Given the description of an element on the screen output the (x, y) to click on. 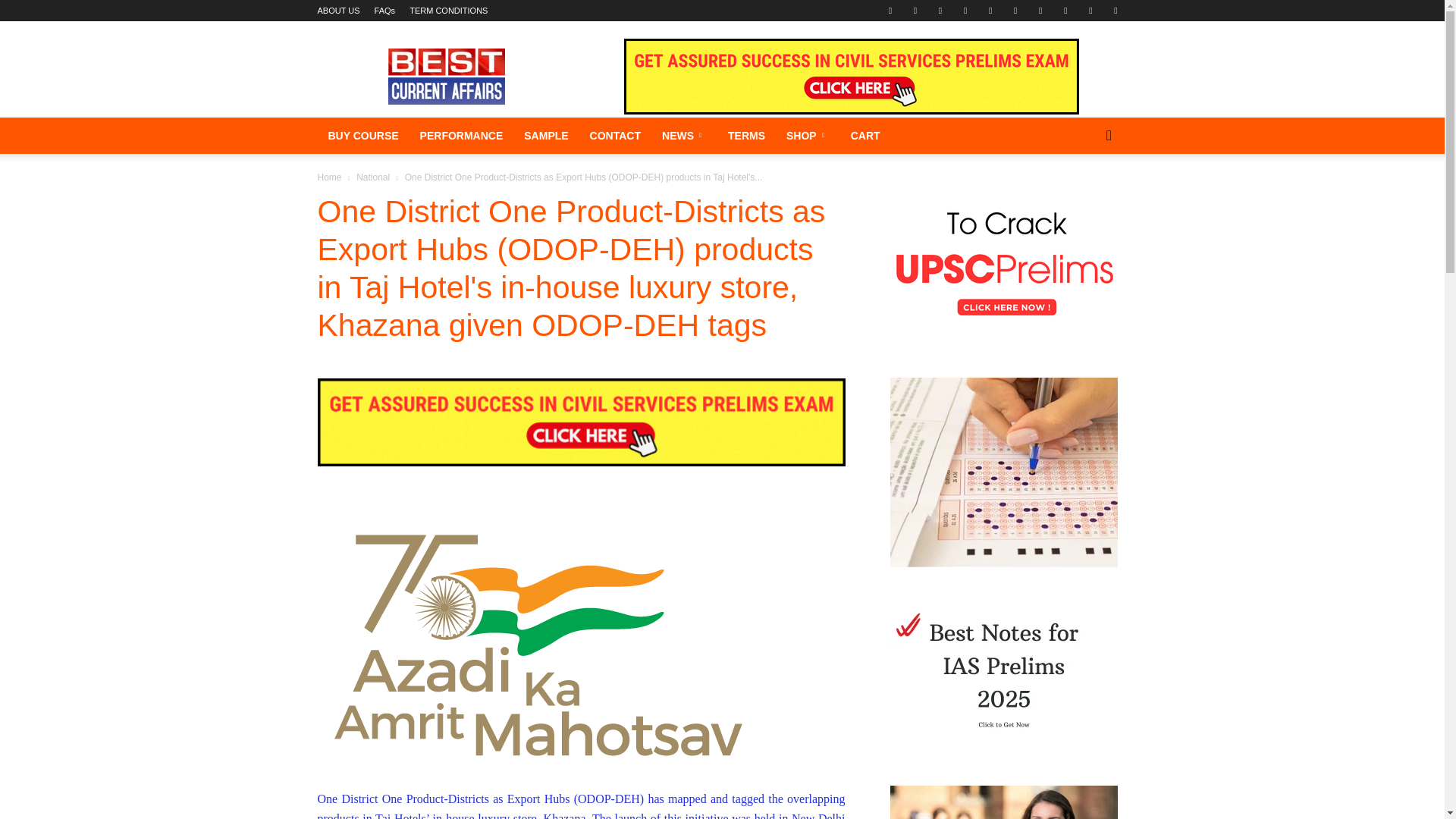
ABOUT US (338, 10)
Instagram (964, 10)
Facebook (890, 10)
FAQs (385, 10)
Flickr (915, 10)
TERM CONDITIONS (448, 10)
